Given the description of an element on the screen output the (x, y) to click on. 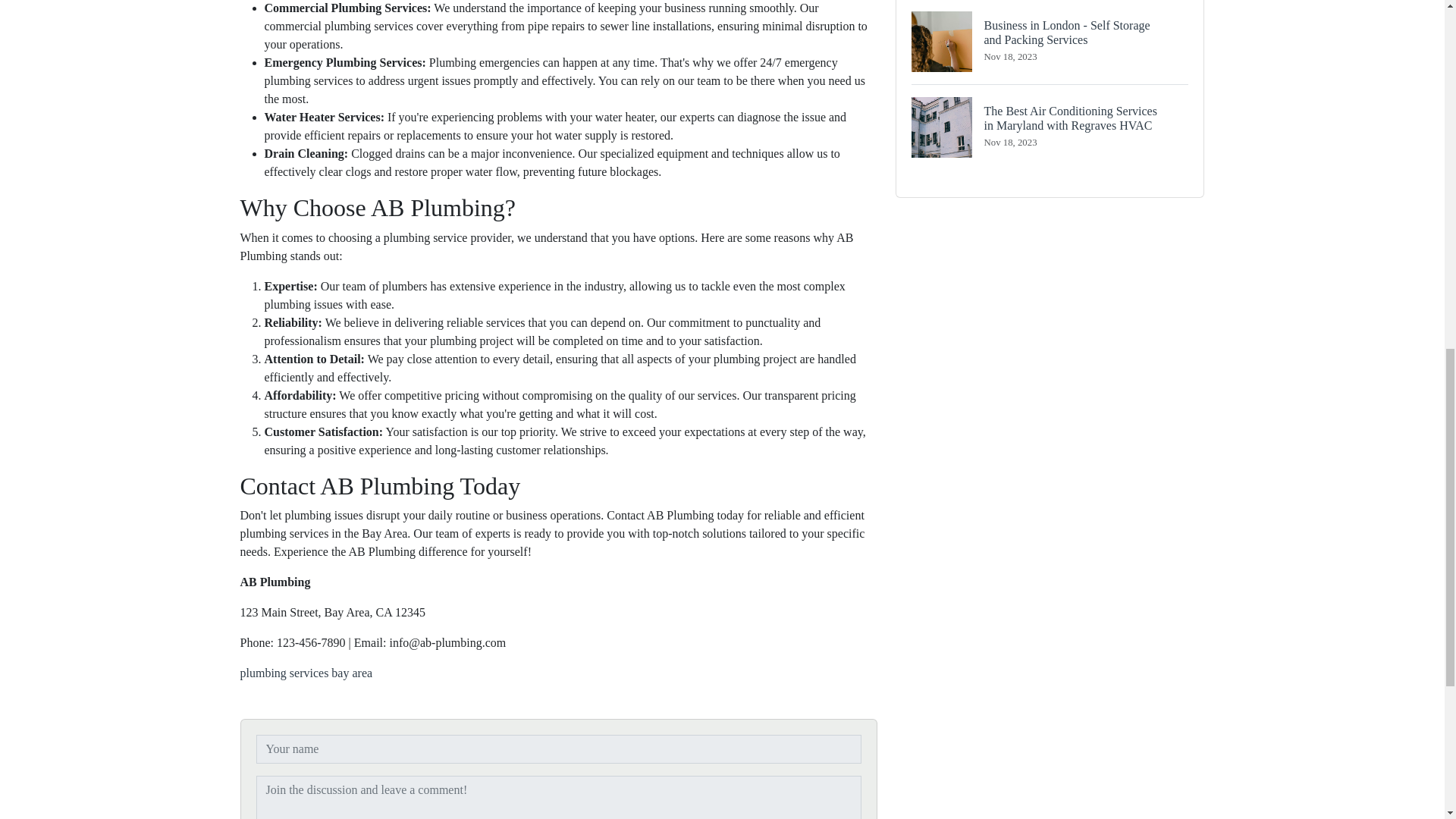
plumbing services bay area (306, 672)
